Given the description of an element on the screen output the (x, y) to click on. 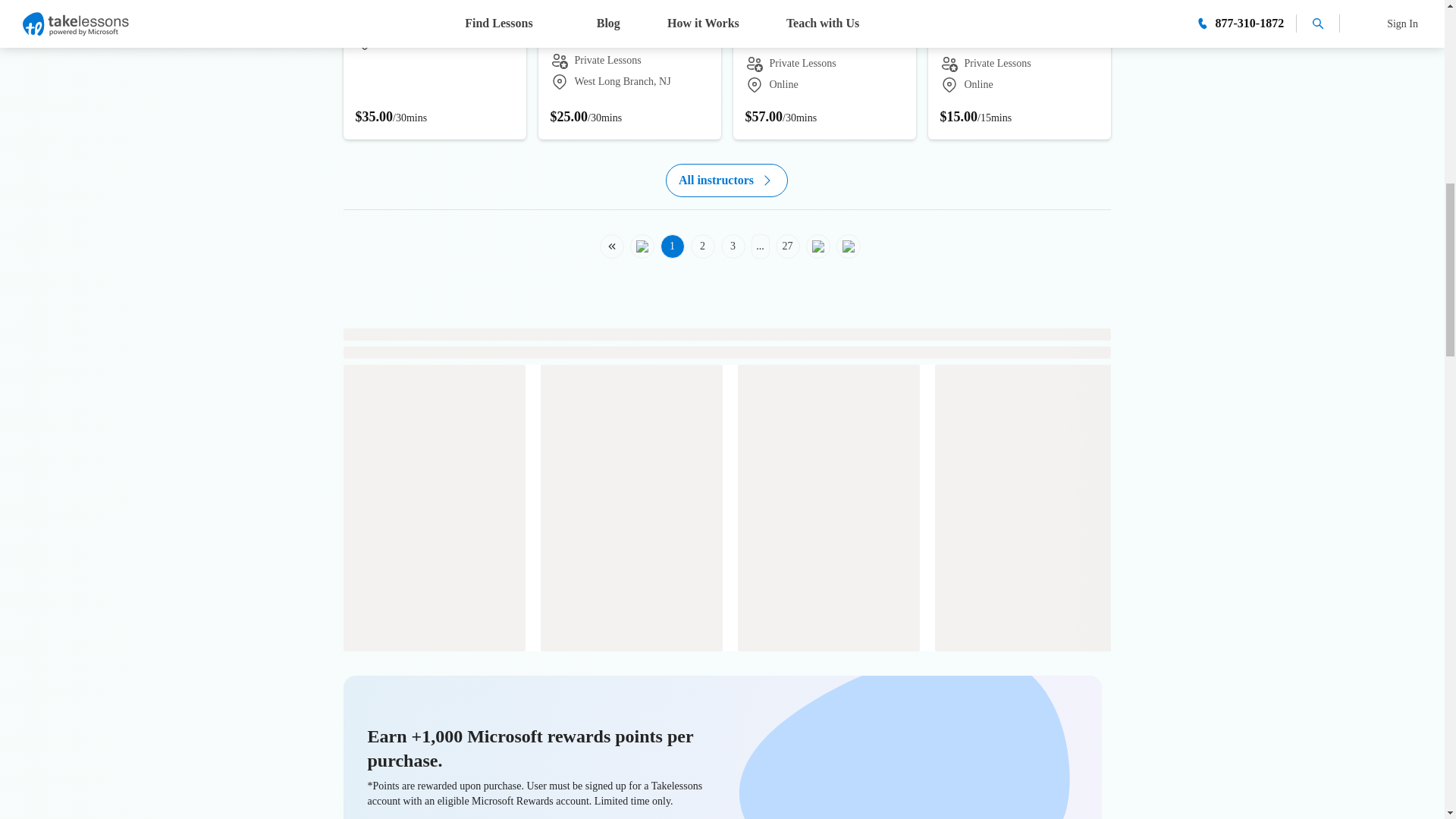
All instructors (726, 180)
1 (668, 246)
